Given the description of an element on the screen output the (x, y) to click on. 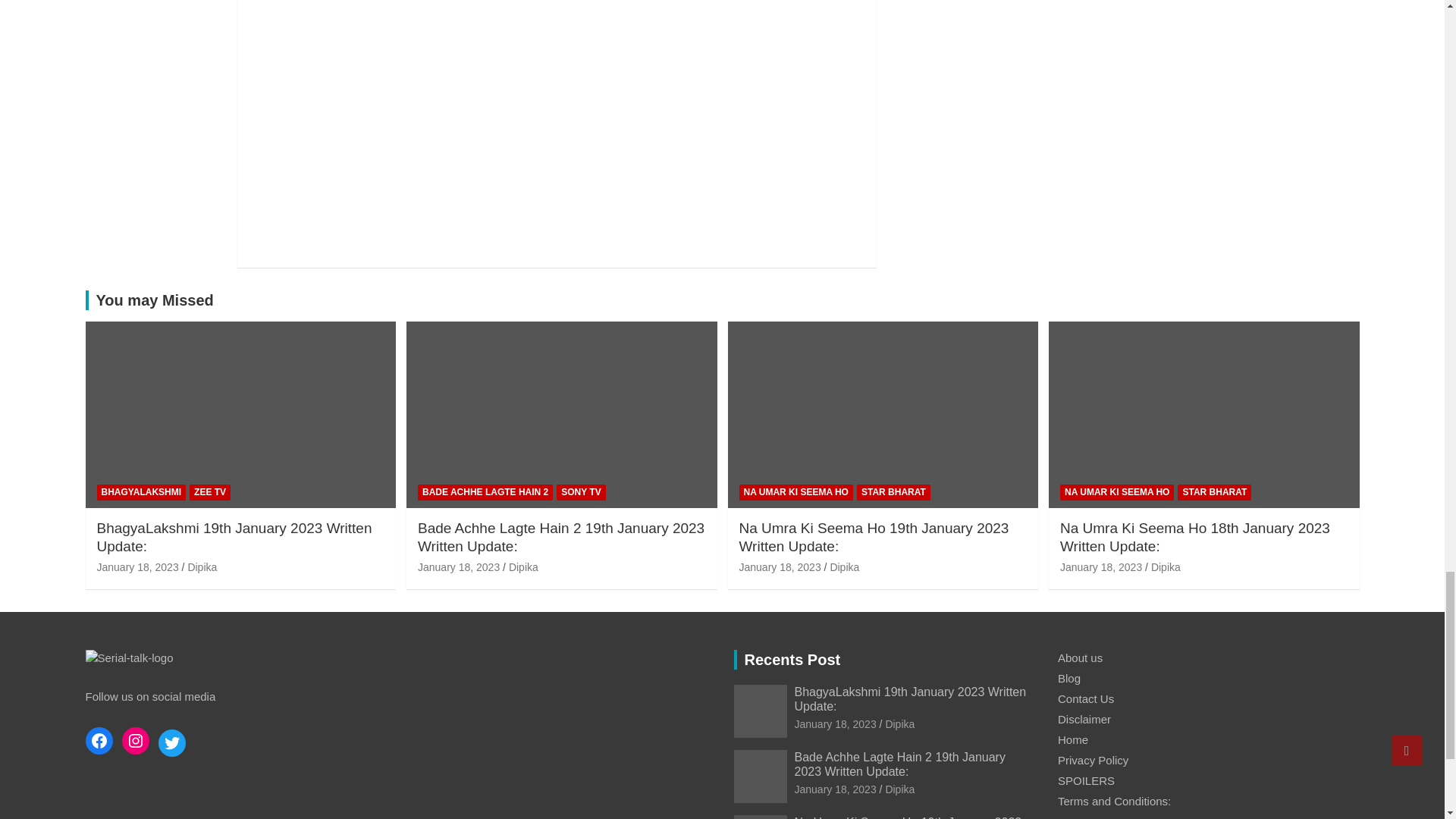
Bade Achhe Lagte Hain 2 19th January 2023 Written Update: (458, 567)
BhagyaLakshmi 19th January 2023 Written Update: (835, 724)
BhagyaLakshmi 19th January 2023 Written Update: (138, 567)
Bade Achhe Lagte Hain 2 19th January 2023 Written Update: (835, 788)
Na Umra Ki Seema Ho 18th January 2023 Written Update: (1100, 567)
Na Umra Ki Seema Ho 19th January 2023 Written Update: (779, 567)
